Given the description of an element on the screen output the (x, y) to click on. 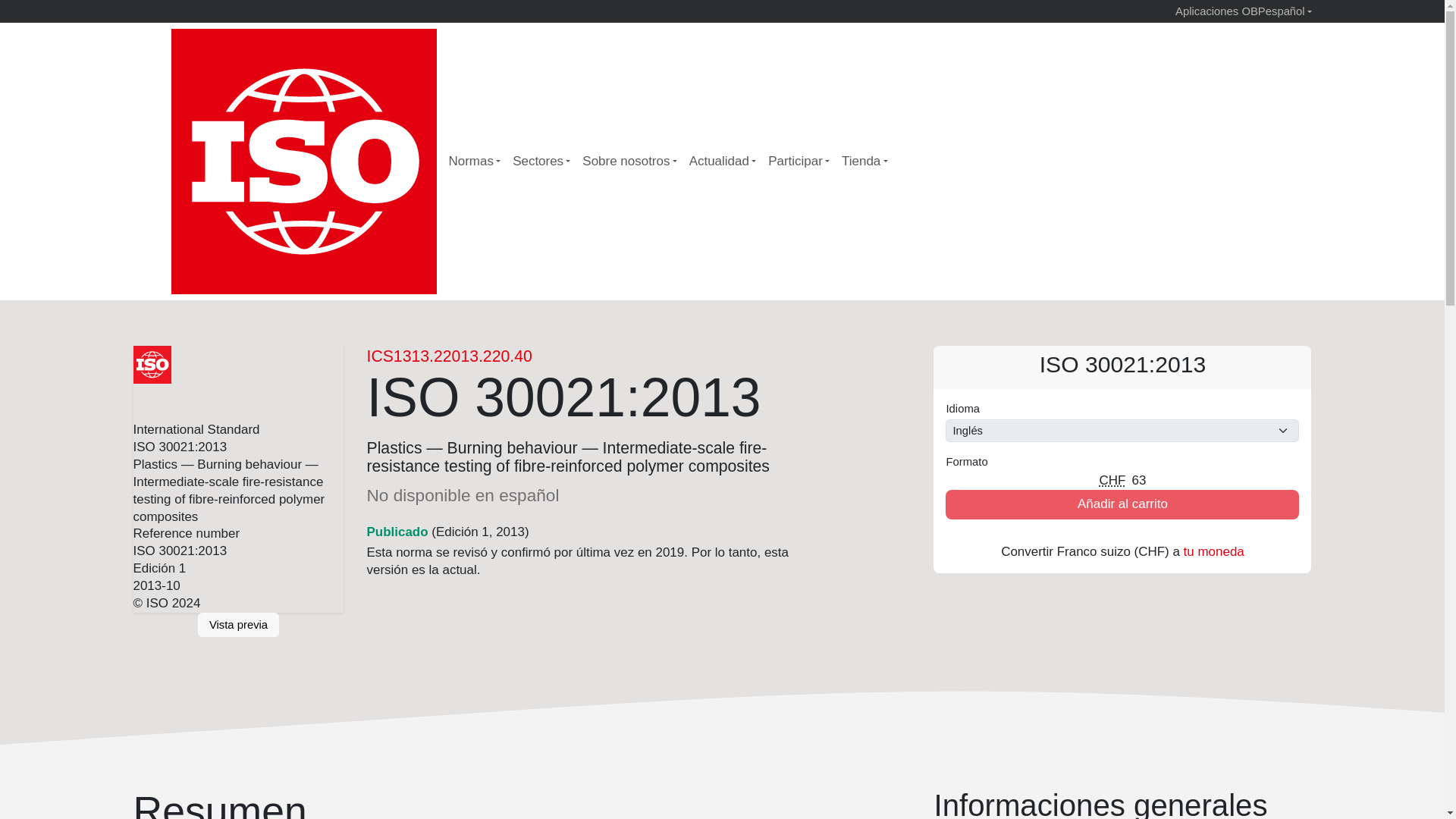
 OBP (1252, 11)
Participar (798, 161)
Ciclo de vida (397, 531)
ICS (379, 355)
 Aplicaciones (1206, 11)
Sectores (541, 161)
Vista previa (238, 624)
Sobre nosotros (629, 161)
13 (402, 355)
Tienda (864, 161)
Publicado (397, 531)
13.220.40 (495, 355)
tu moneda (1213, 551)
Normas (474, 161)
